Given the description of an element on the screen output the (x, y) to click on. 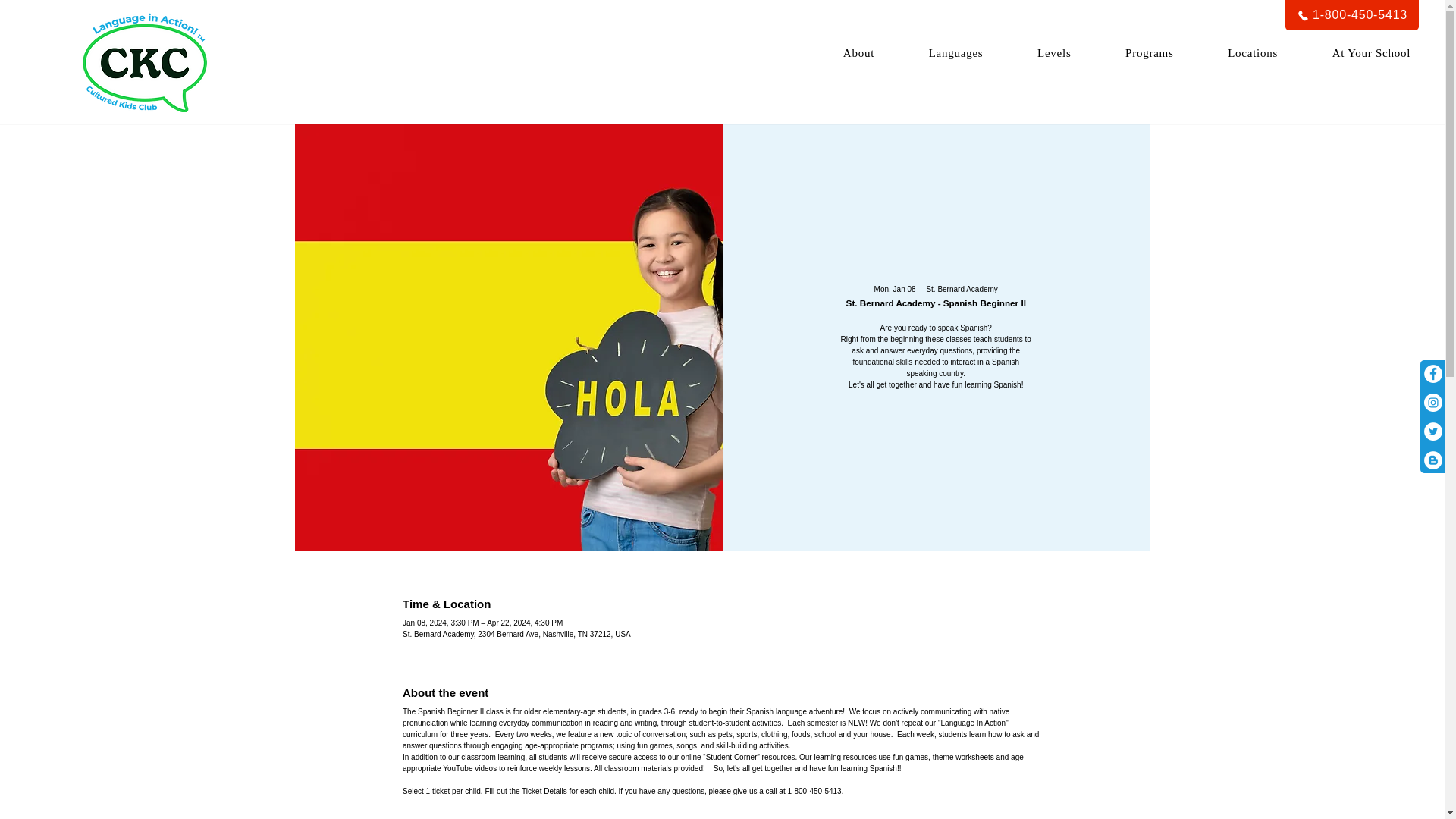
At Your School (1370, 52)
Locations (1126, 52)
1-800-450-5413 (1252, 52)
Languages (1351, 15)
